Given the description of an element on the screen output the (x, y) to click on. 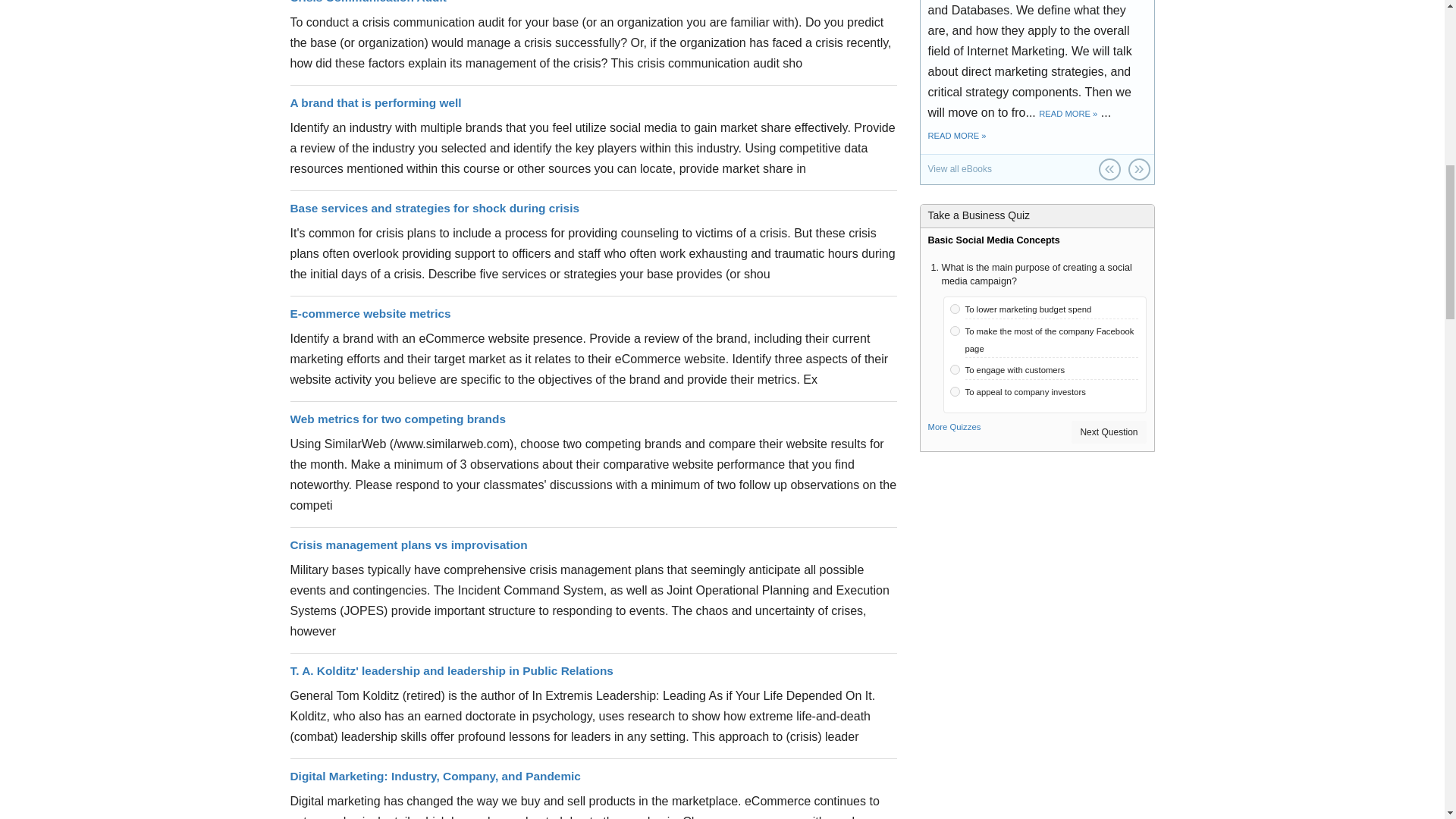
T. A. Kolditz' leadership and leadership in Public Relations (450, 670)
Web metrics for two competing brands (397, 418)
A brand that is performing well (375, 102)
d (954, 391)
Crisis management plans vs improvisation (408, 544)
E-commerce website metrics (369, 313)
Base services and strategies for shock during crisis (434, 207)
Digital Marketing: Industry, Company, and Pandemic (434, 775)
Crisis Communication Audit (367, 2)
b (954, 330)
